Given the description of an element on the screen output the (x, y) to click on. 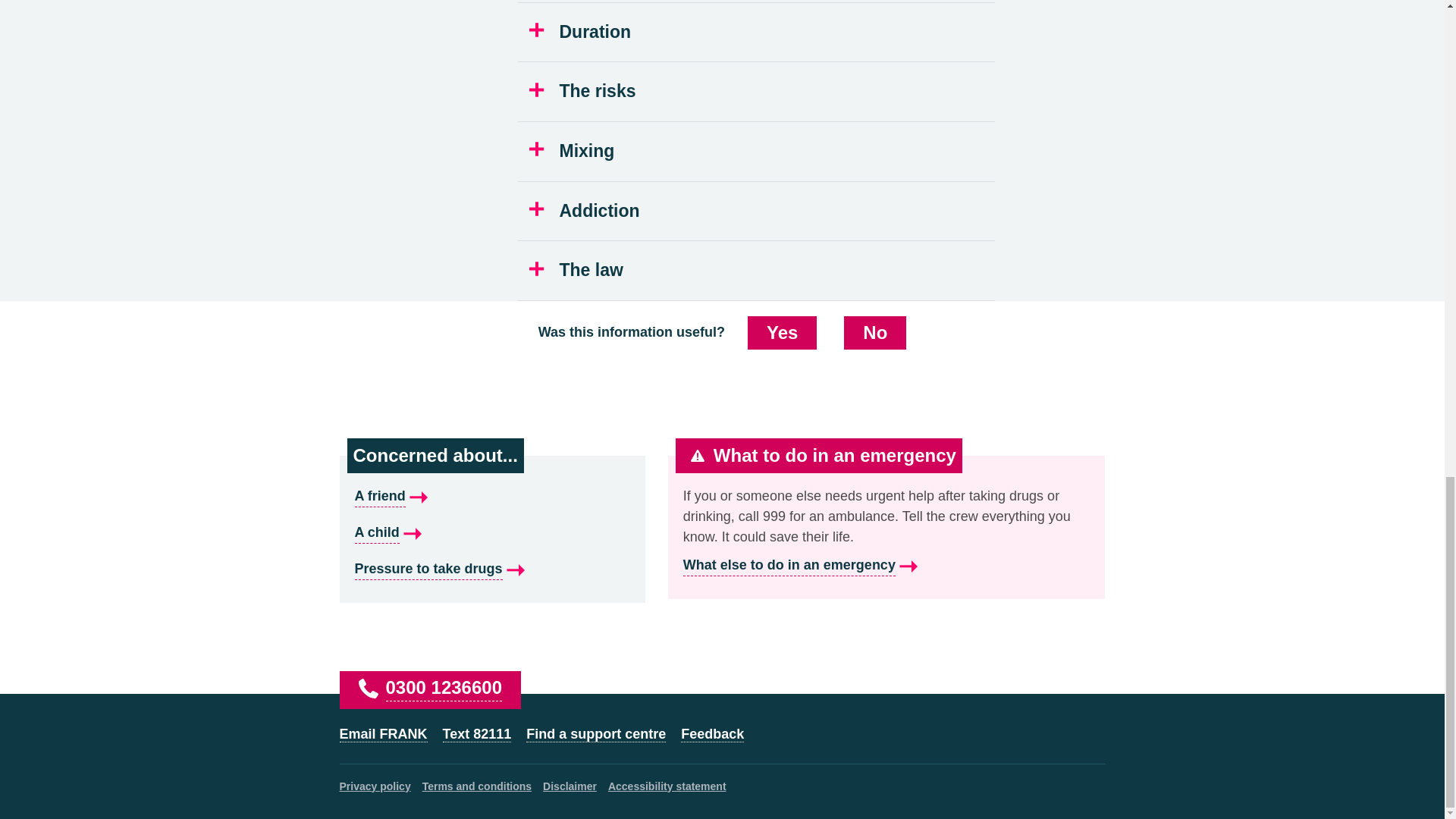
Mixing (756, 151)
The law (756, 270)
Addiction (756, 210)
The risks (756, 91)
Yes (782, 332)
No (874, 332)
A friend (492, 496)
A child (492, 532)
Duration (756, 32)
